Given the description of an element on the screen output the (x, y) to click on. 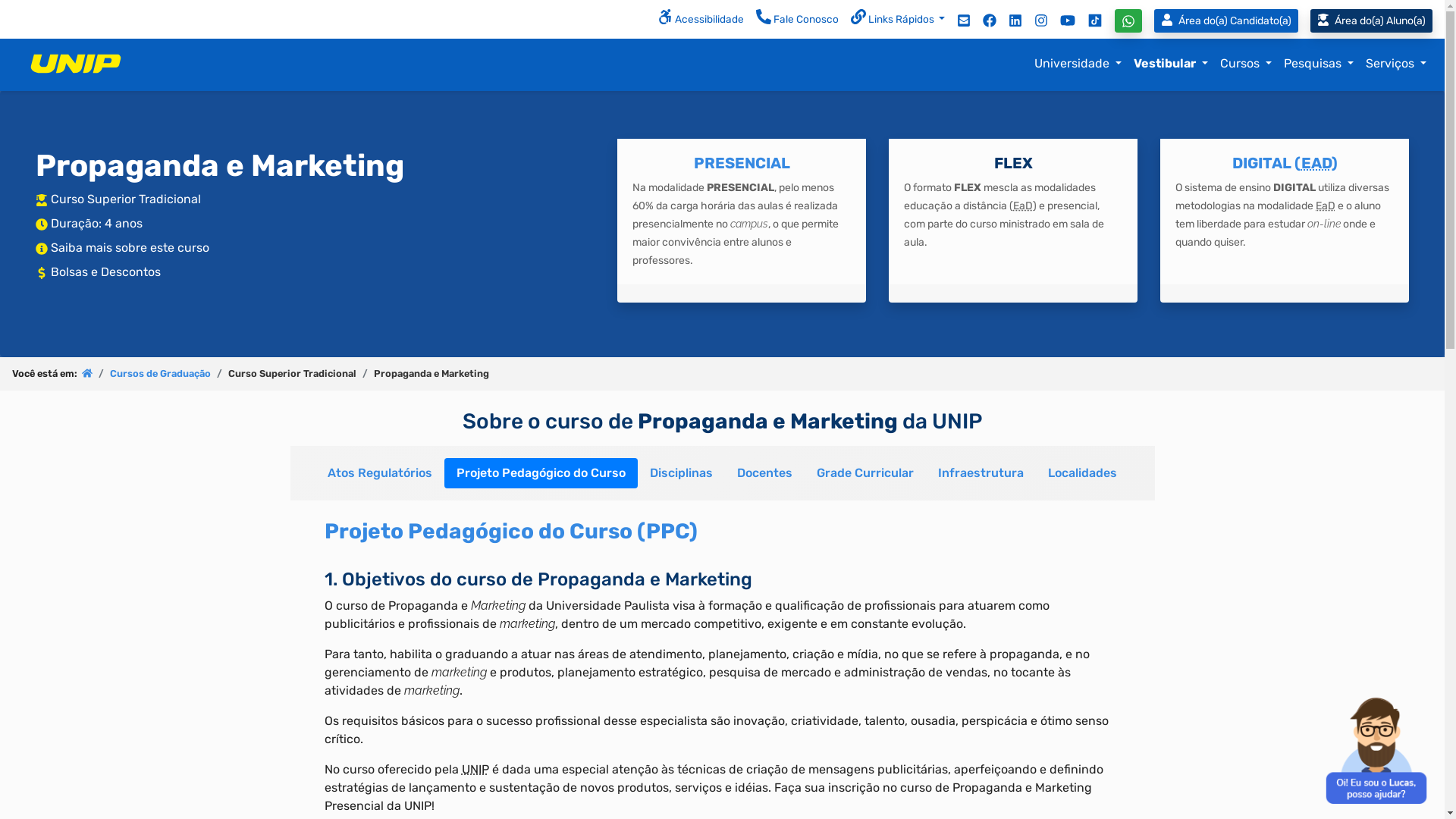
Aluno(a) Element type: text (1377, 20)
Cursos Element type: text (1245, 63)
Siga a UNIP no Facebook Element type: hover (989, 19)
Disciplinas Element type: text (680, 473)
Acessibilidade Element type: text (700, 19)
Universidade Element type: text (1077, 63)
Acesso ao Webmail Element type: hover (963, 19)
Inscreva-se no canal da UNIP no YouTube Element type: hover (1067, 20)
Fale Conosco Element type: text (796, 19)
Siga a UNIP no Instagram Element type: hover (1041, 19)
Docentes Element type: text (764, 473)
Grade Curricular Element type: text (864, 473)
Vestibular Element type: text (1170, 63)
Infraestrutura Element type: text (980, 473)
Localidades Element type: text (1082, 473)
Bolsas e Descontos Element type: text (105, 271)
Candidato(a) Element type: text (1226, 20)
Pesquisas Element type: text (1318, 63)
Fale conosco no WhatsApp Element type: hover (1128, 20)
Siga a UNIP no Linkedin Element type: hover (1015, 19)
Aluno(a) Element type: text (1371, 20)
Siga a UNIP no TikTok da UNIP Element type: hover (1094, 20)
Saiba mais sobre este curso Element type: text (129, 247)
Candidato(a) Element type: text (1229, 20)
